Given the description of an element on the screen output the (x, y) to click on. 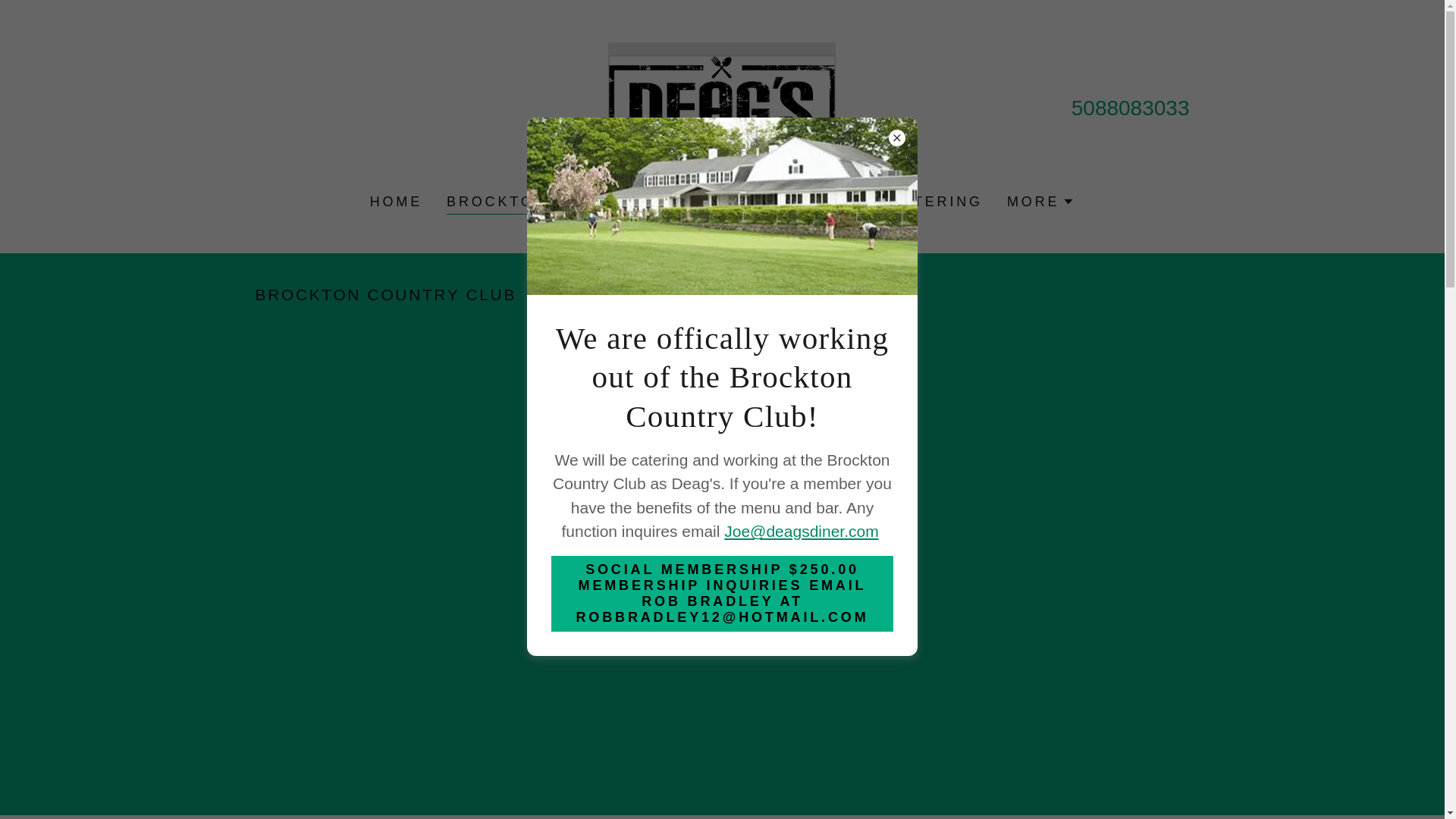
5088083033 (1130, 107)
Deag's Food-truck and Catering  (721, 107)
BROCKTON COUNTRY CLUB (570, 203)
FOOD TRUCK AND CATERING (851, 201)
MORE (1040, 201)
HOME (395, 201)
